Given the description of an element on the screen output the (x, y) to click on. 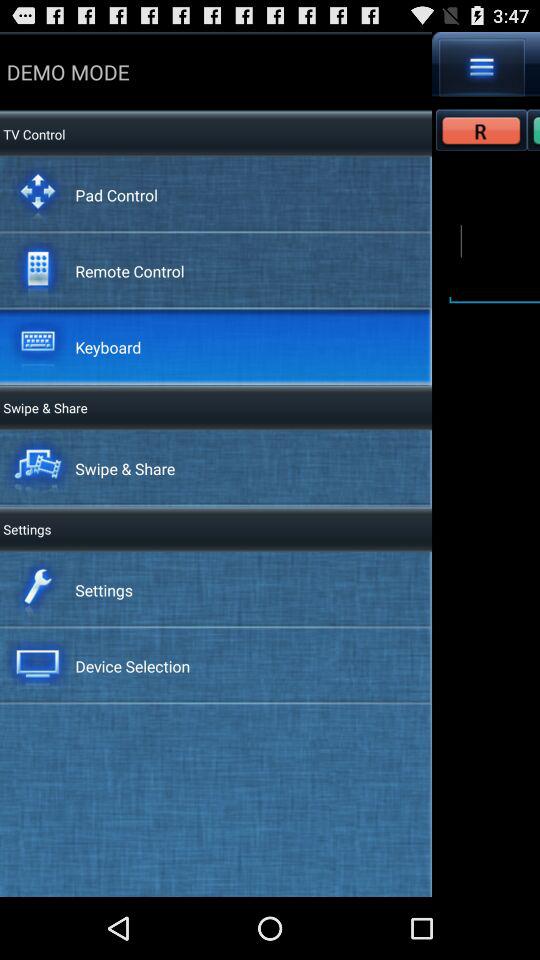
red input button (481, 129)
